Given the description of an element on the screen output the (x, y) to click on. 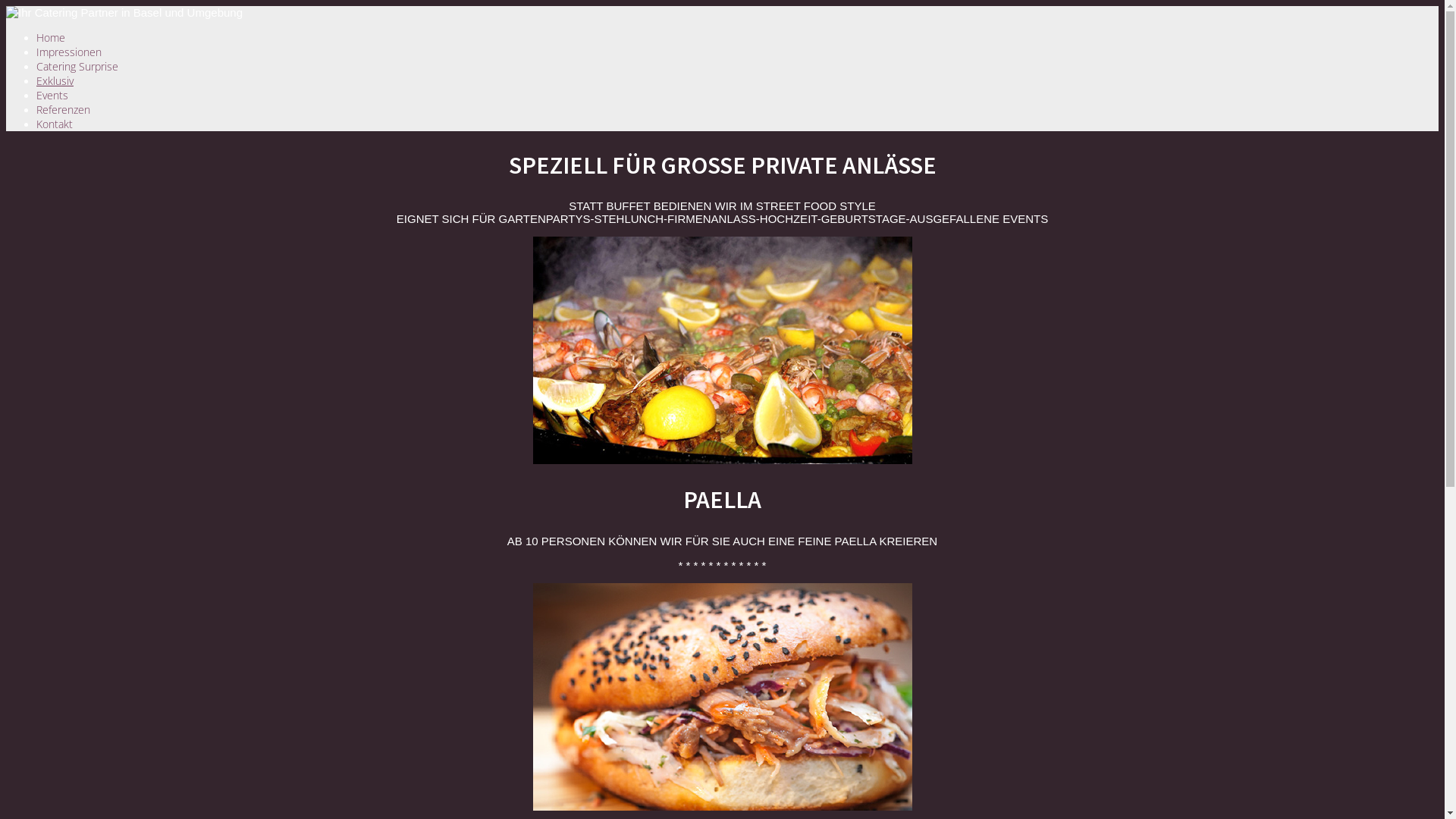
Catering Surprise Element type: text (77, 66)
Referenzen Element type: text (63, 109)
Kontakt Element type: text (54, 123)
Events Element type: text (52, 94)
Home Element type: text (50, 37)
Exklusiv Element type: text (54, 80)
Impressionen Element type: text (68, 51)
Ihr Catering Partner in Basel und Umgebung Element type: hover (124, 12)
